Given the description of an element on the screen output the (x, y) to click on. 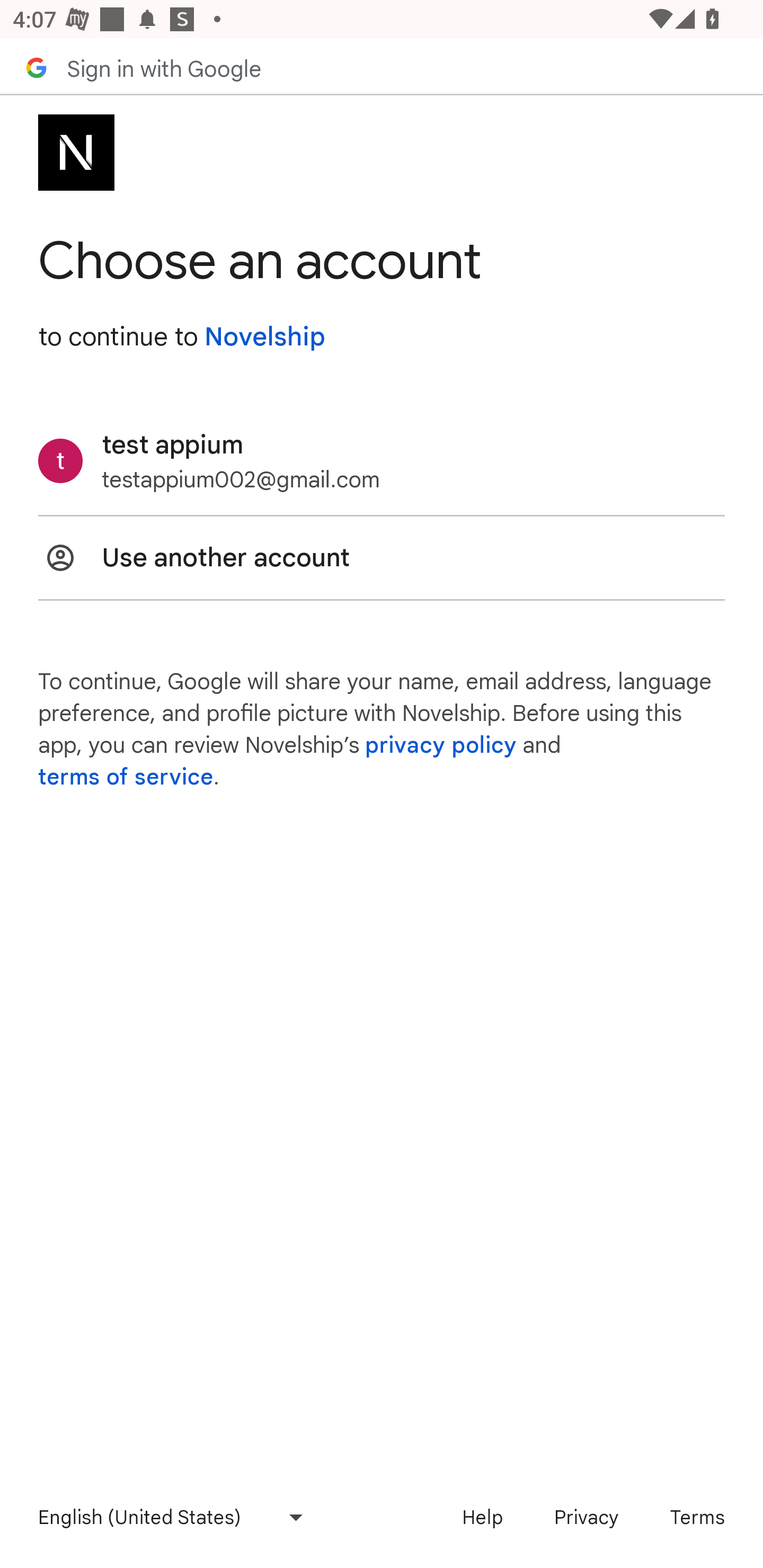
Novelship (264, 336)
Use another account (381, 556)
privacy policy (440, 744)
terms of service (126, 776)
Help (481, 1517)
Privacy (586, 1517)
Terms (696, 1517)
